Given the description of an element on the screen output the (x, y) to click on. 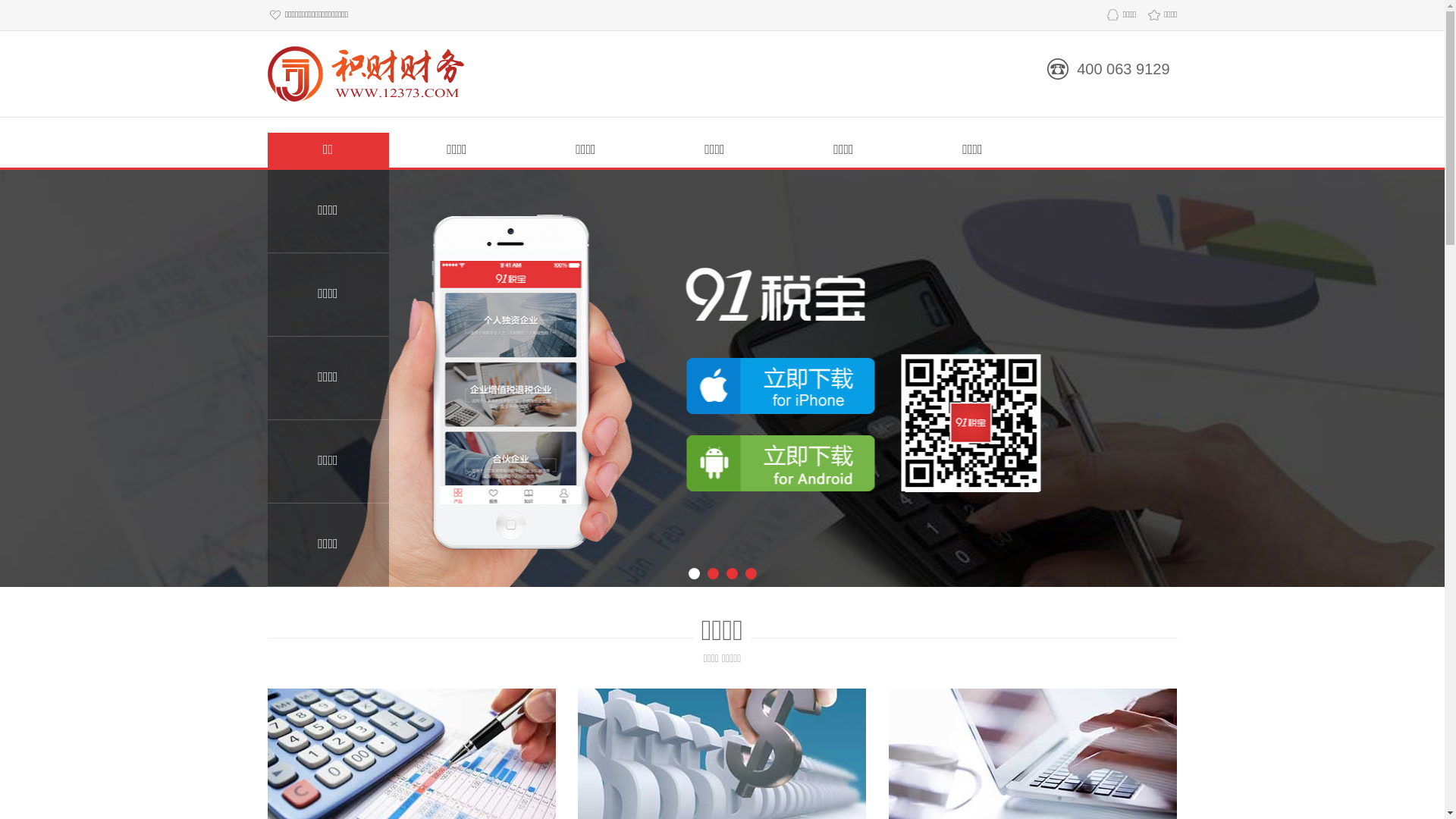
1 Element type: text (722, 377)
